Given the description of an element on the screen output the (x, y) to click on. 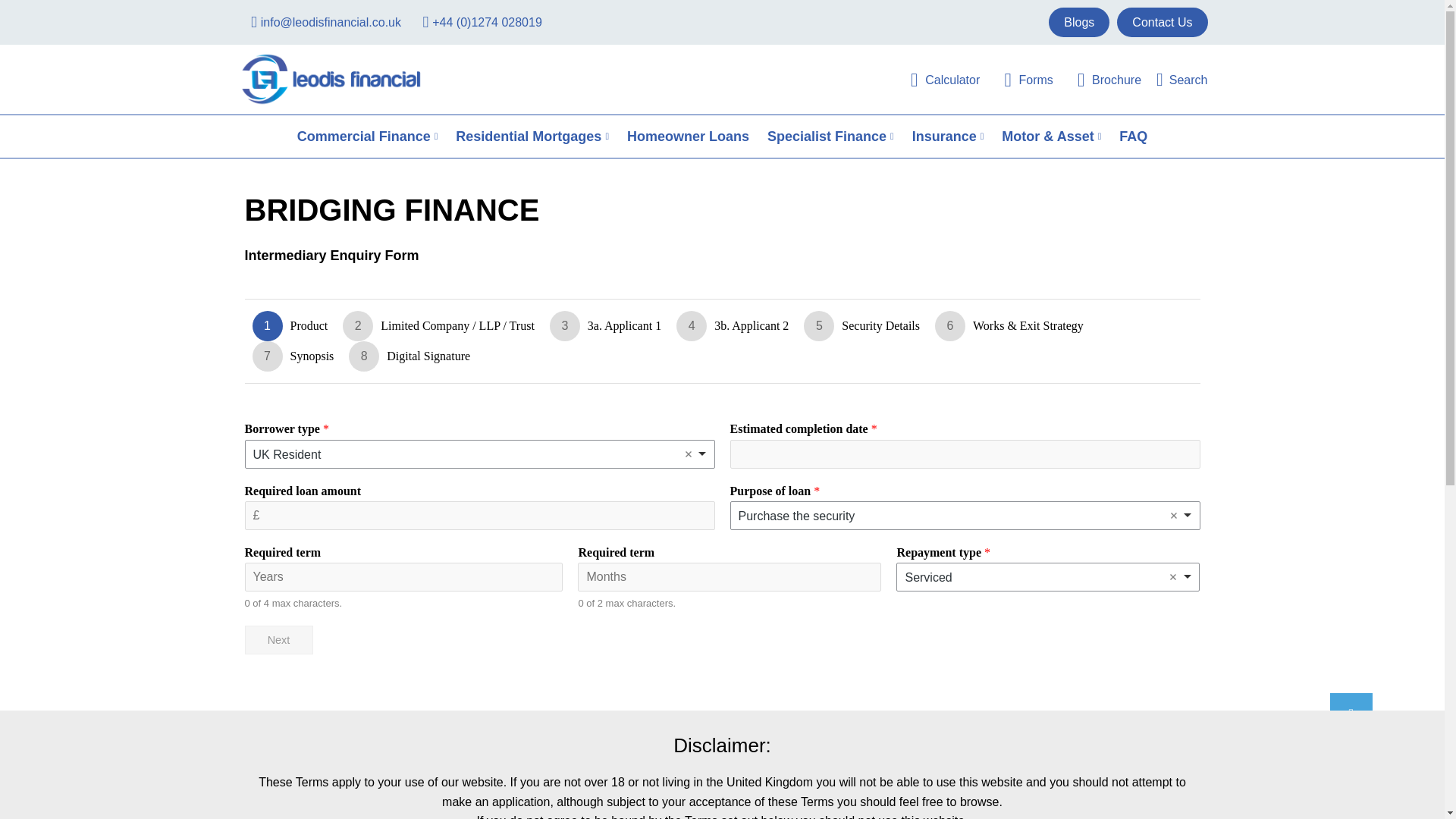
Contact Us (1161, 21)
Blogs (1078, 21)
Brochure (1101, 79)
Forms (1019, 79)
Calculator (936, 79)
